Given the description of an element on the screen output the (x, y) to click on. 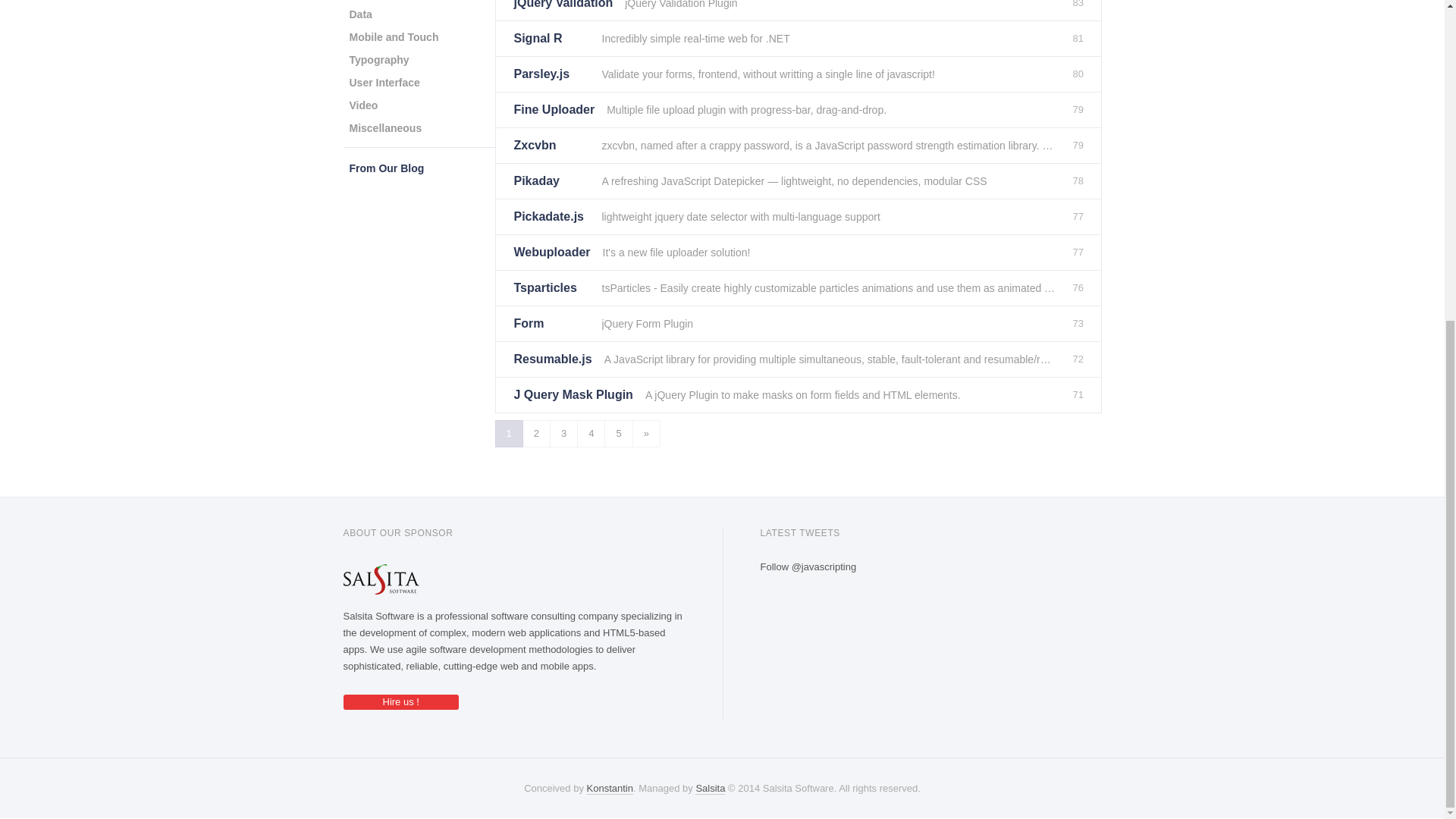
Video (363, 105)
Miscellaneous (385, 128)
Mobile and Touch (393, 36)
jQuery Validation (562, 10)
Data (359, 14)
Typography (378, 59)
User Interface (383, 82)
